Given the description of an element on the screen output the (x, y) to click on. 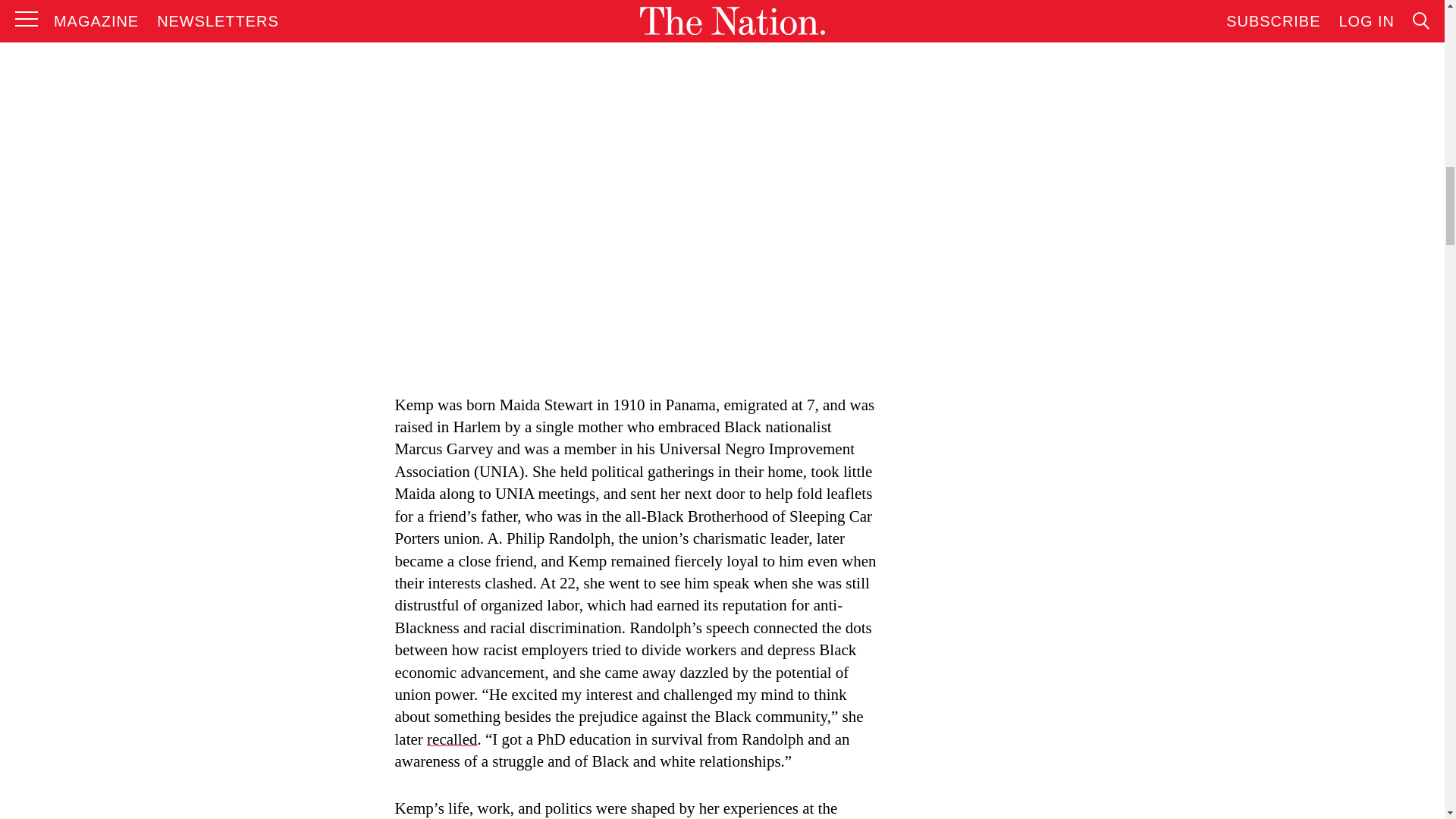
recalled (451, 739)
